Given the description of an element on the screen output the (x, y) to click on. 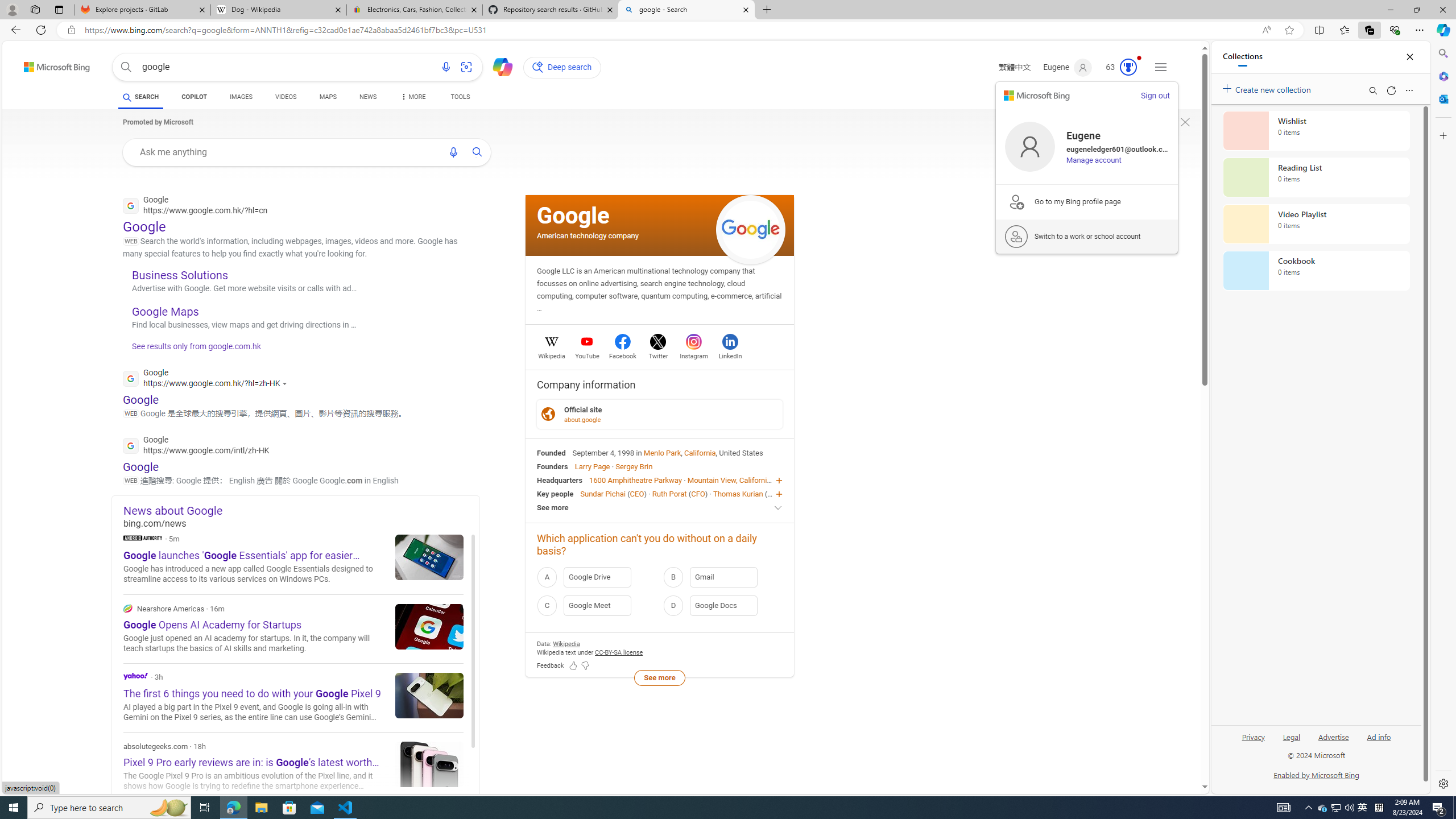
TOOLS (460, 96)
Business Solutions (180, 274)
Go to my Bing profile page (1086, 201)
Sergey Brin (633, 465)
Cookbook collection, 0 items (1316, 270)
Yahoo (293, 697)
Instagram (693, 354)
See more images of Google (751, 229)
Official siteabout.google (660, 414)
Nearshore Americas (293, 628)
